Given the description of an element on the screen output the (x, y) to click on. 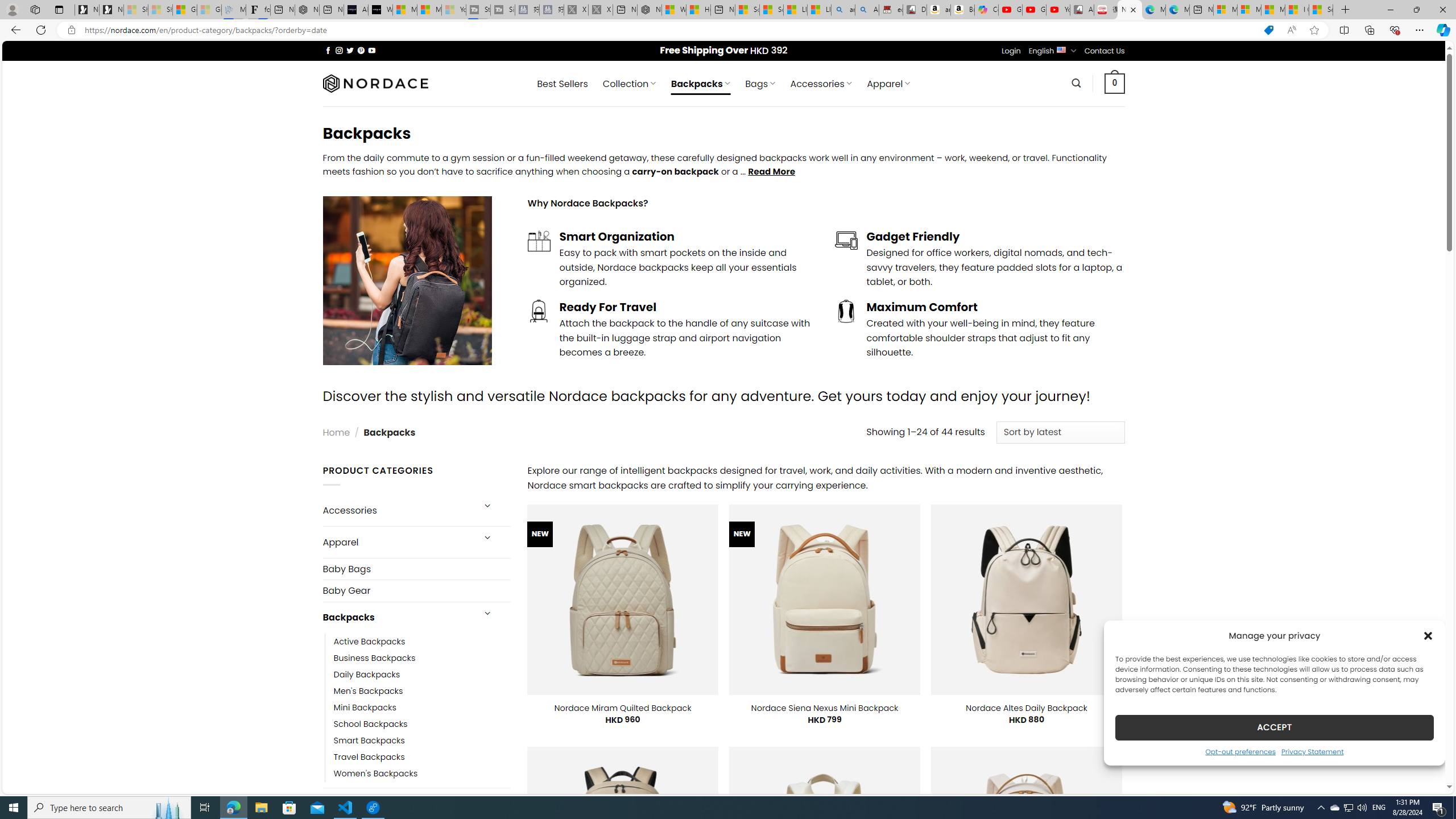
Wildlife - MSN (673, 9)
Login (1010, 50)
AI Voice Changer for PC and Mac - Voice.ai (355, 9)
  Best Sellers (562, 83)
Men's Backpacks (368, 690)
English (1061, 49)
App bar (728, 29)
Follow on Facebook (327, 49)
Streaming Coverage | T3 - Sleeping (478, 9)
